Given the description of an element on the screen output the (x, y) to click on. 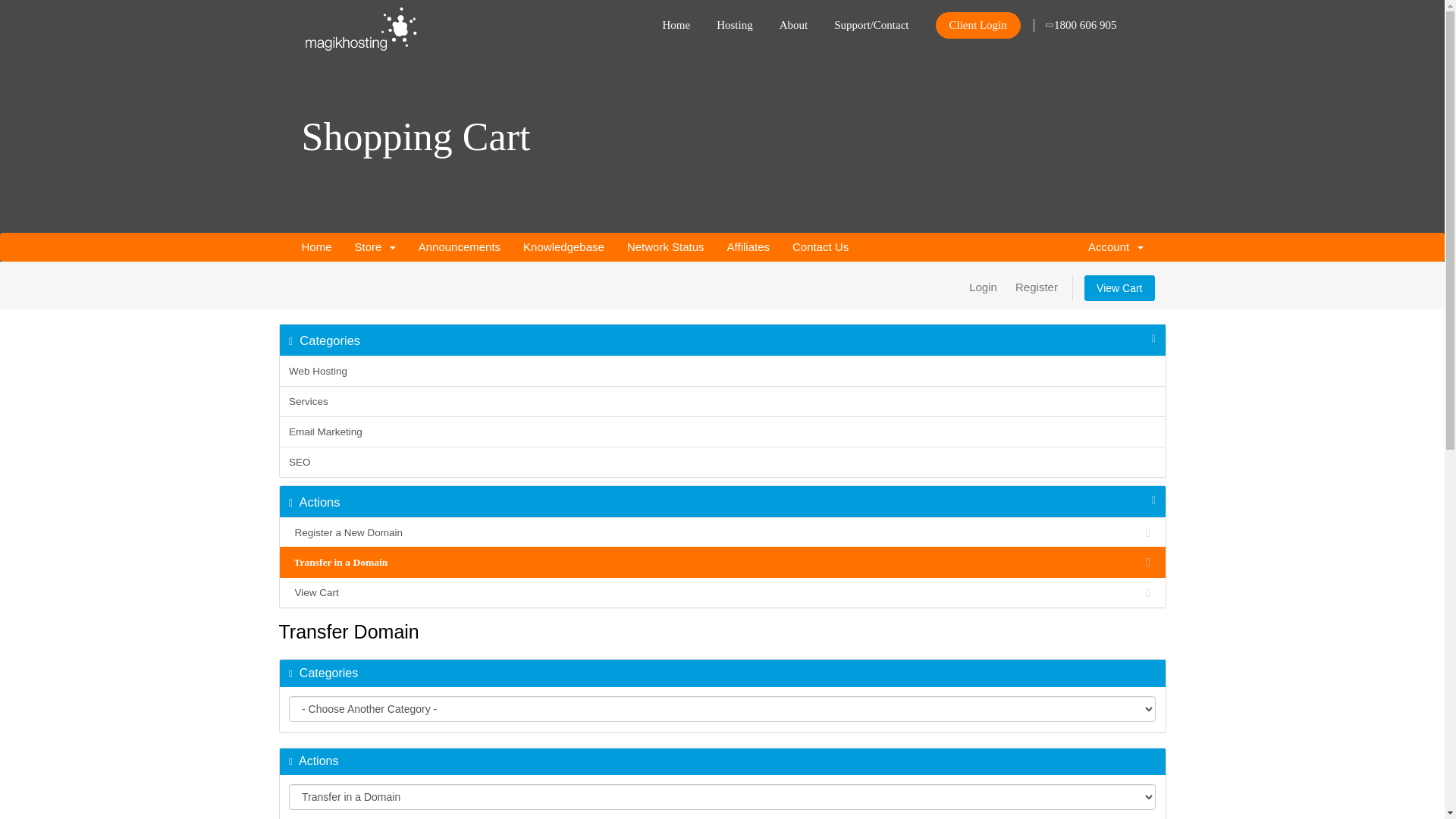
  Transfer in a Domain Element type: text (721, 561)
About Element type: text (793, 21)
View Cart Element type: text (1119, 288)
Contact Us Element type: text (820, 246)
SEO Element type: text (721, 461)
  Register a New Domain Element type: text (721, 532)
Home Element type: text (676, 21)
Knowledgebase Element type: text (563, 246)
Email Marketing Element type: text (721, 431)
Register Element type: text (1036, 287)
Login Element type: text (982, 287)
Hosting Element type: text (734, 21)
Store   Element type: text (375, 246)
Services Element type: text (721, 401)
Network Status Element type: text (665, 246)
Affiliates Element type: text (748, 246)
Support/Contact Element type: text (871, 21)
Home Element type: text (315, 246)
1800 606 905 Element type: text (1082, 21)
  View Cart Element type: text (721, 592)
Account   Element type: text (1115, 246)
Client Login Element type: text (977, 25)
Announcements Element type: text (459, 246)
Web Hosting Element type: text (721, 371)
